Given the description of an element on the screen output the (x, y) to click on. 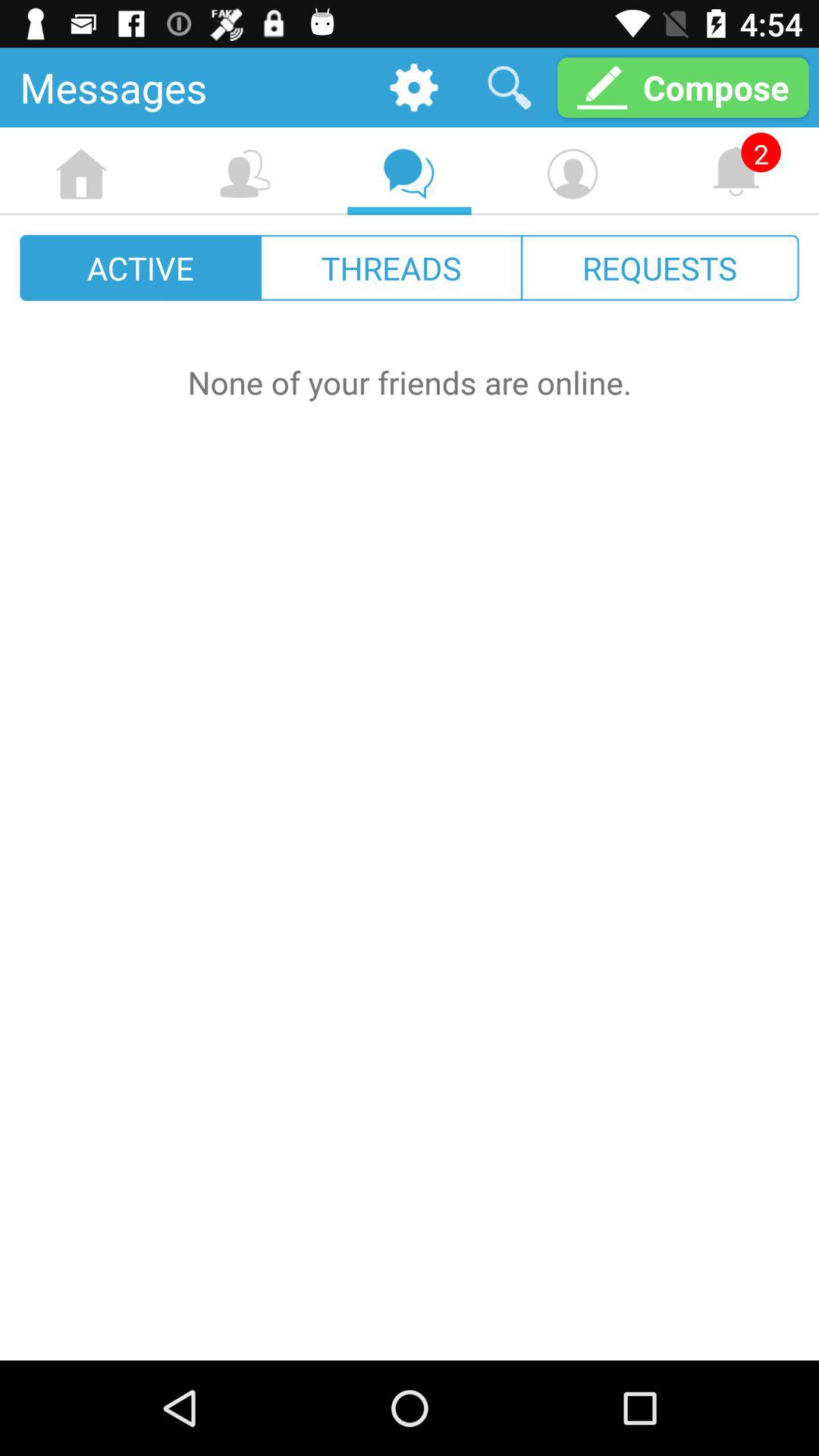
click the icon to the right of active icon (390, 267)
